Given the description of an element on the screen output the (x, y) to click on. 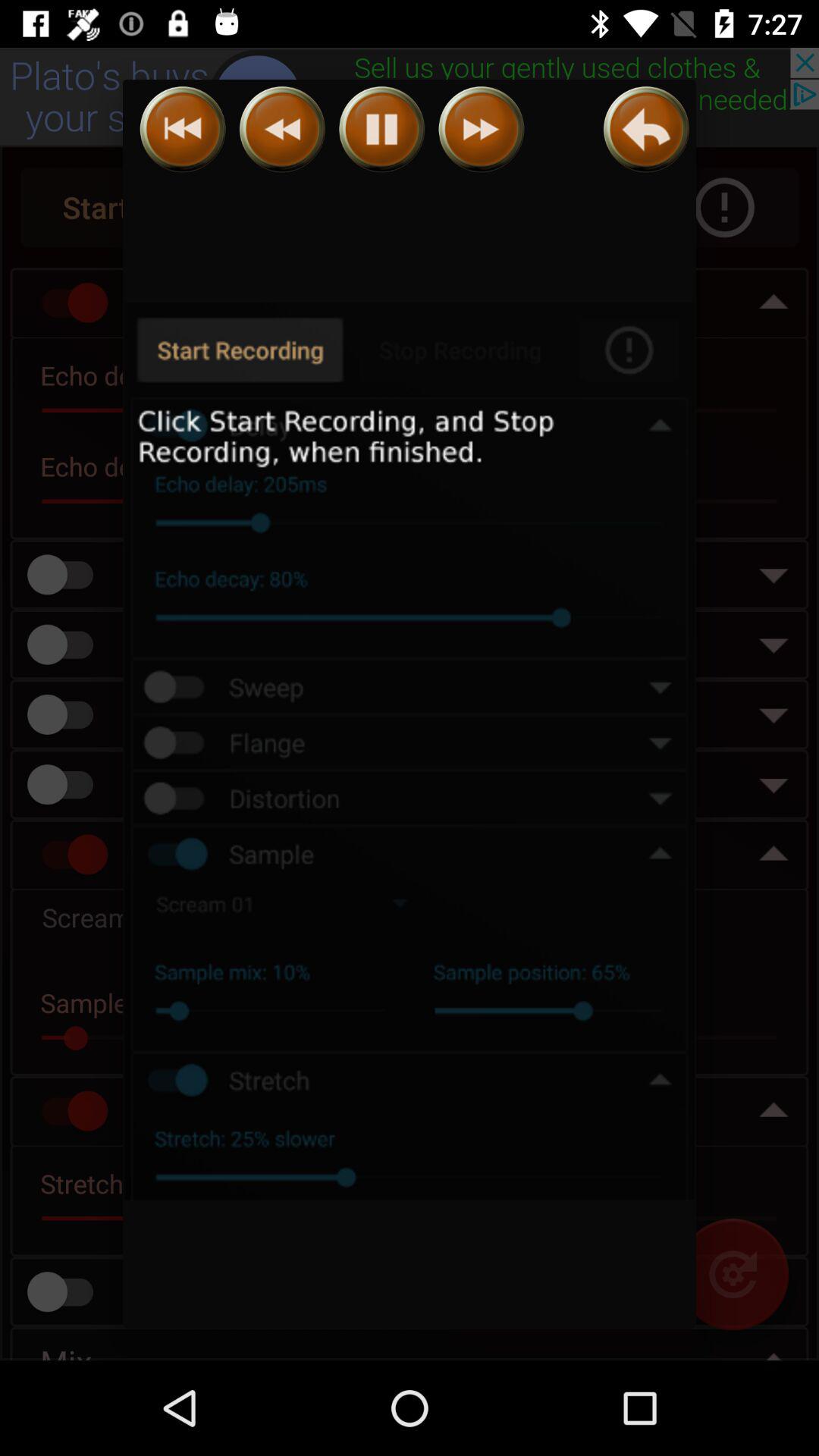
pause recording (381, 129)
